Given the description of an element on the screen output the (x, y) to click on. 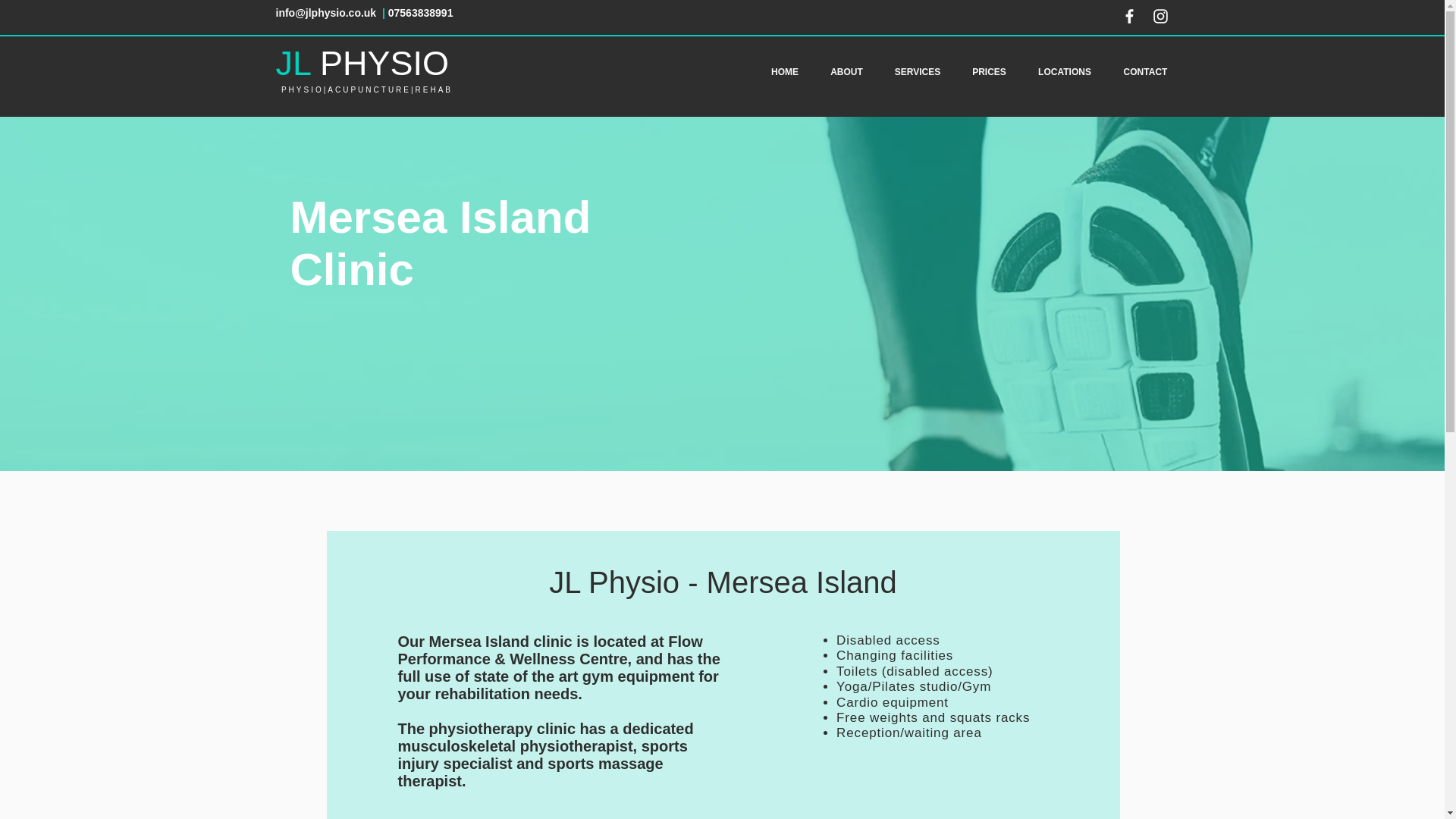
SERVICES (916, 71)
CONTACT (1144, 71)
ABOUT (845, 71)
LOCATIONS (1065, 71)
HOME (785, 71)
PRICES (989, 71)
